Given the description of an element on the screen output the (x, y) to click on. 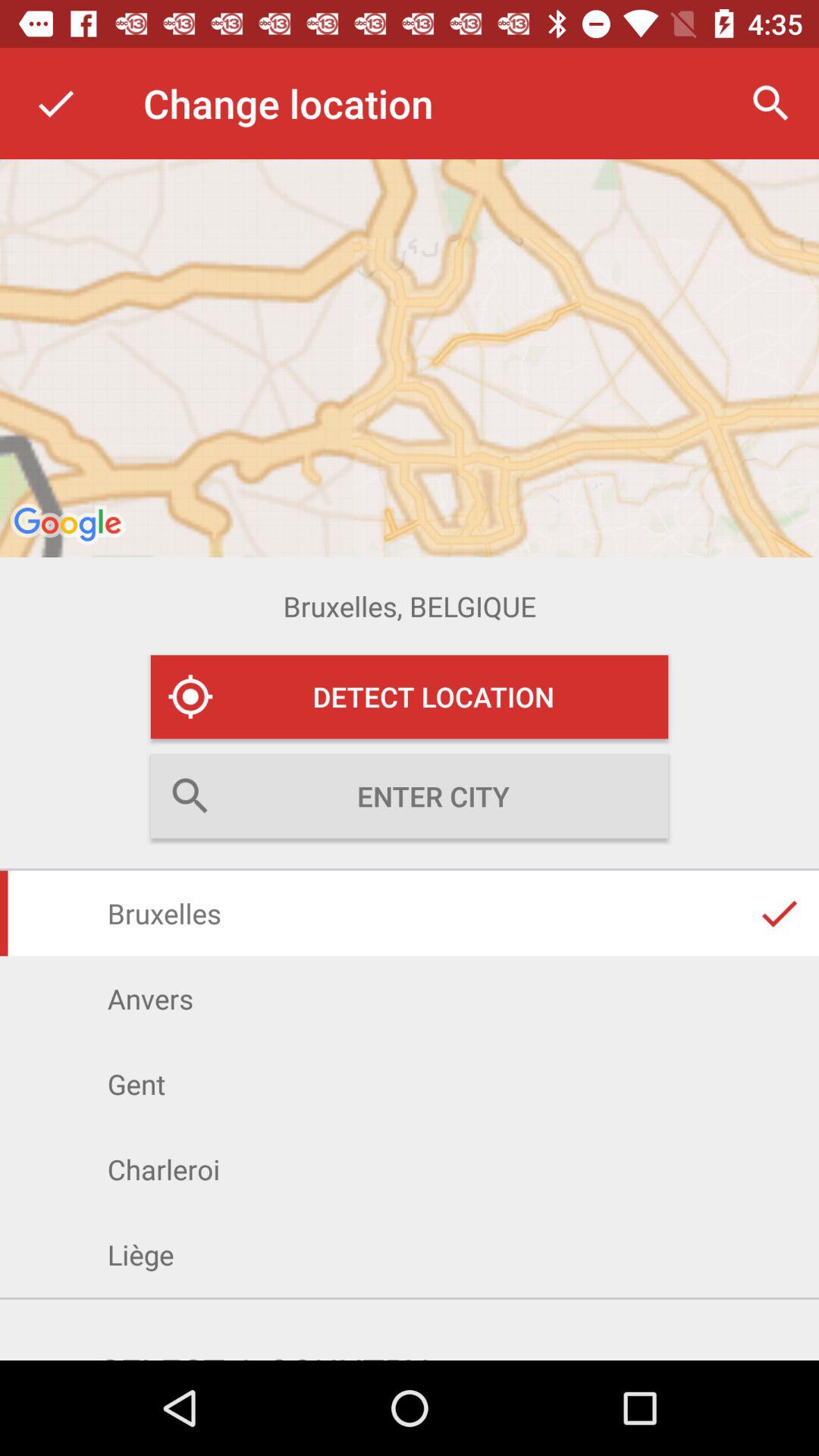
magnifier icon (771, 103)
click on the text field of search (409, 796)
select the red colored button at middle of the page (409, 696)
click on the right mark in bruxelles (779, 913)
